Given the description of an element on the screen output the (x, y) to click on. 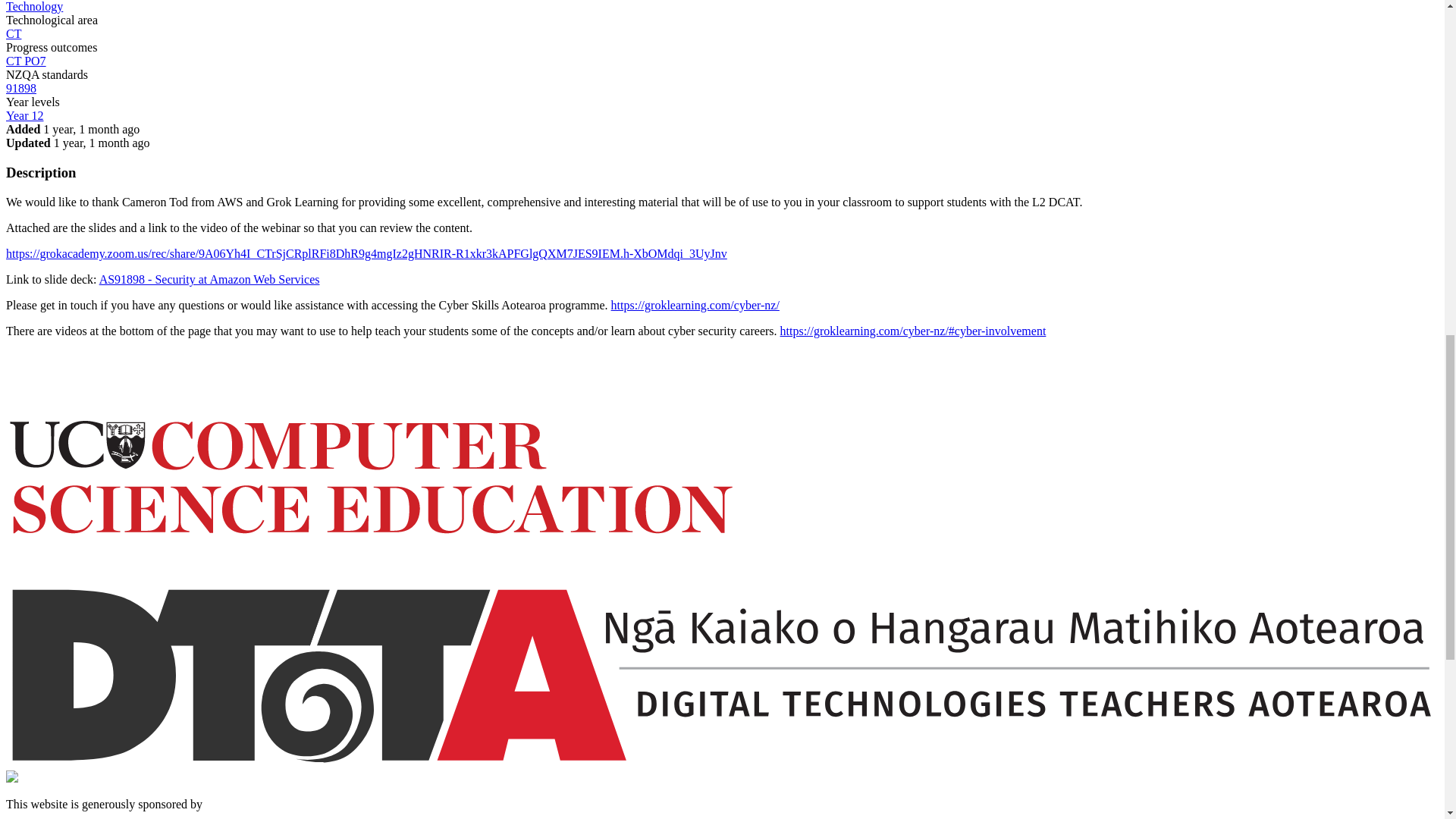
CT PO7 (25, 60)
AS91898 - Security at Amazon Web Services (209, 278)
91898 (20, 88)
Year 12 (24, 115)
CT (13, 33)
Technology (33, 6)
